Given the description of an element on the screen output the (x, y) to click on. 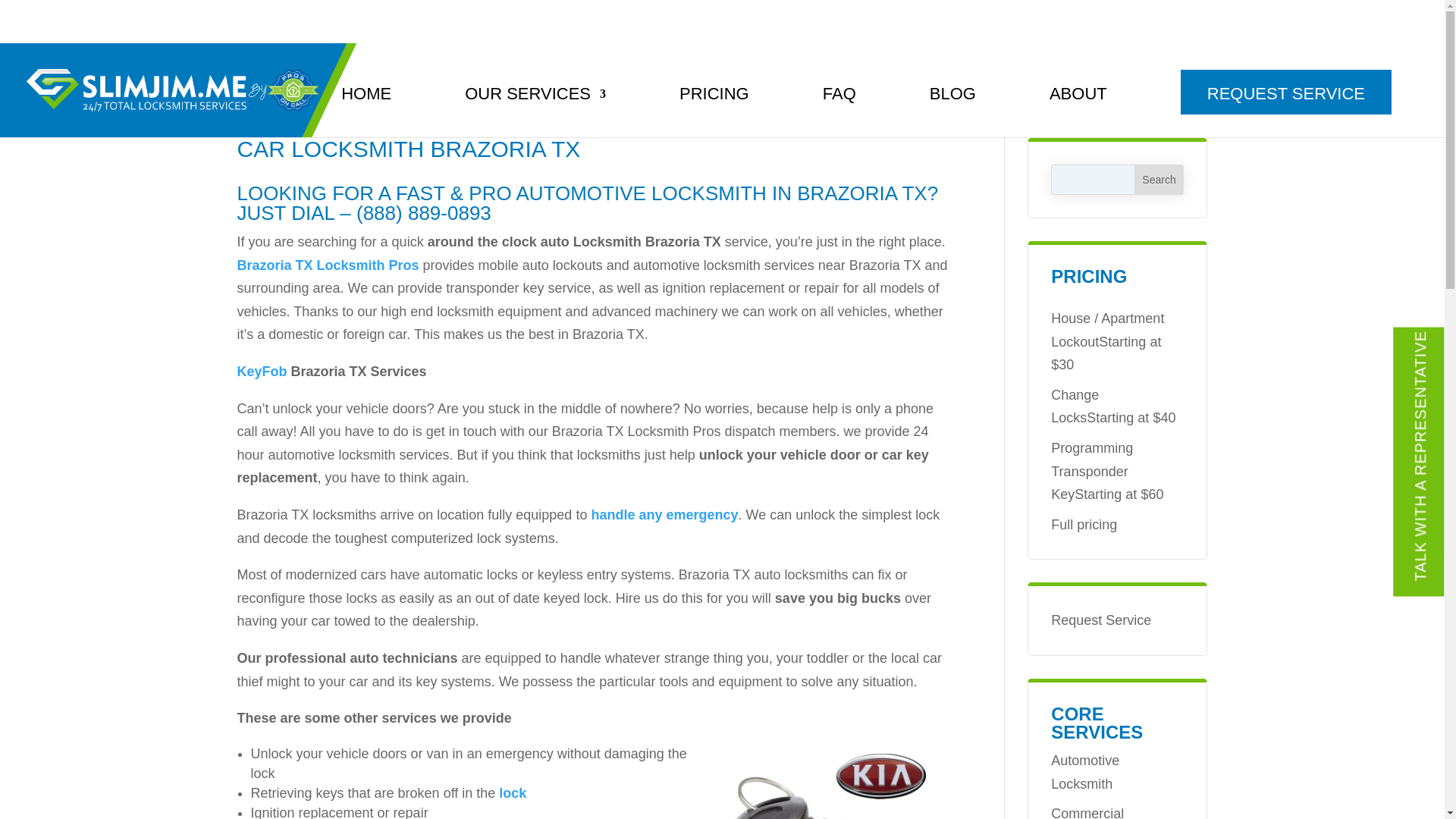
OUR SERVICES (534, 112)
Brazoria TX Locksmith Pros (327, 264)
ABOUT (1077, 112)
Search (1159, 179)
BLOG (952, 112)
HOME (365, 112)
KeyFob (260, 371)
REQUEST SERVICE (1285, 91)
PRICING (714, 112)
